Given the description of an element on the screen output the (x, y) to click on. 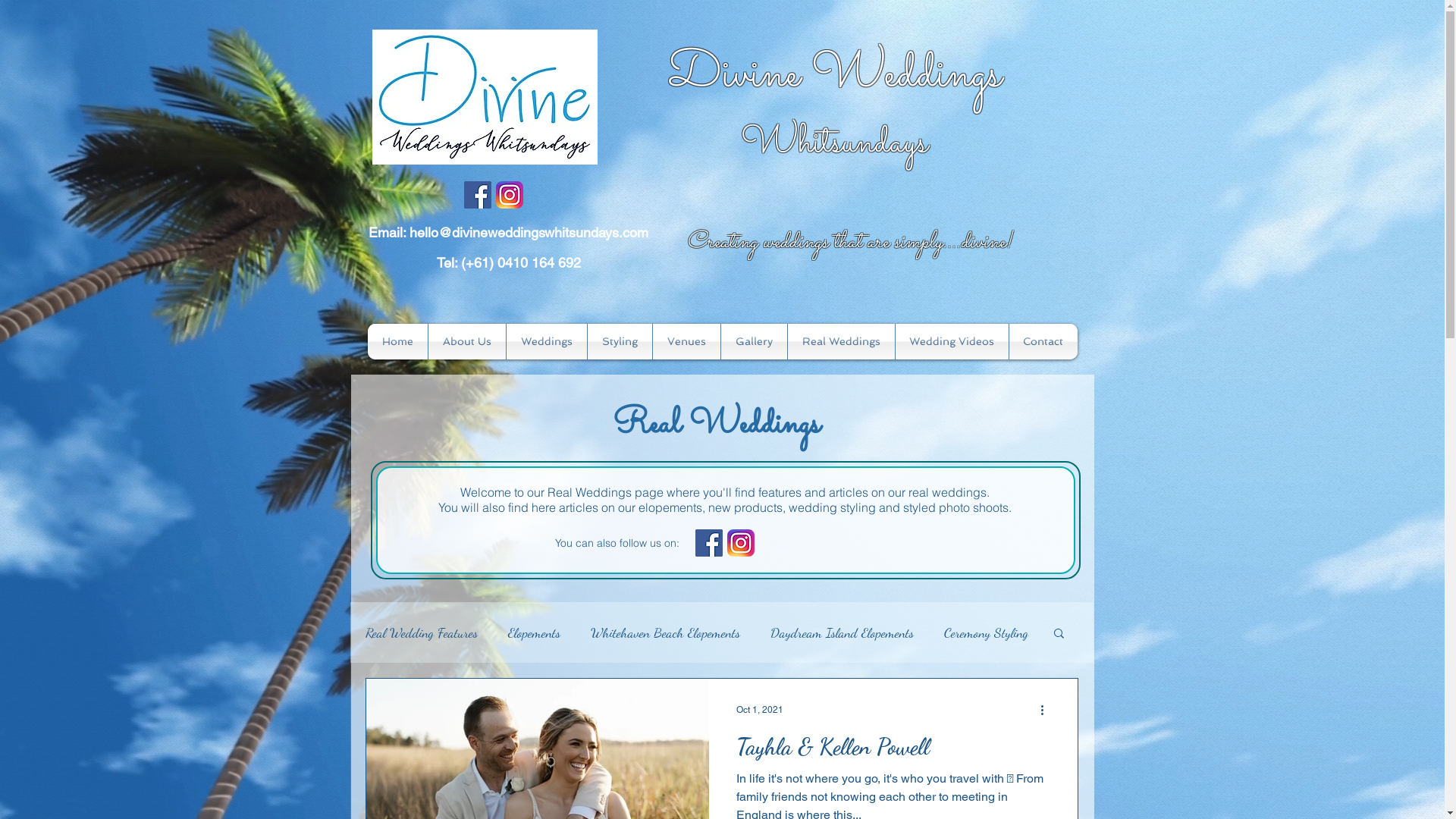
Wedding Videos Element type: text (950, 341)
Tayhla & Kellen Powell Element type: text (892, 750)
Styling Element type: text (618, 341)
hello@divineweddingswhitsundays.com Element type: text (528, 232)
Real Wedding Features Element type: text (421, 632)
Contact Element type: text (1042, 341)
Home Element type: text (396, 341)
Elopements Element type: text (534, 632)
Ceremony Styling Element type: text (985, 632)
Gallery Element type: text (753, 341)
Daydream Island Elopements Element type: text (841, 632)
Real Weddings Element type: text (840, 341)
Weddings Element type: text (546, 341)
Whitehaven Beach Elopements Element type: text (664, 632)
About Us Element type: text (466, 341)
Venues Element type: text (685, 341)
